Given the description of an element on the screen output the (x, y) to click on. 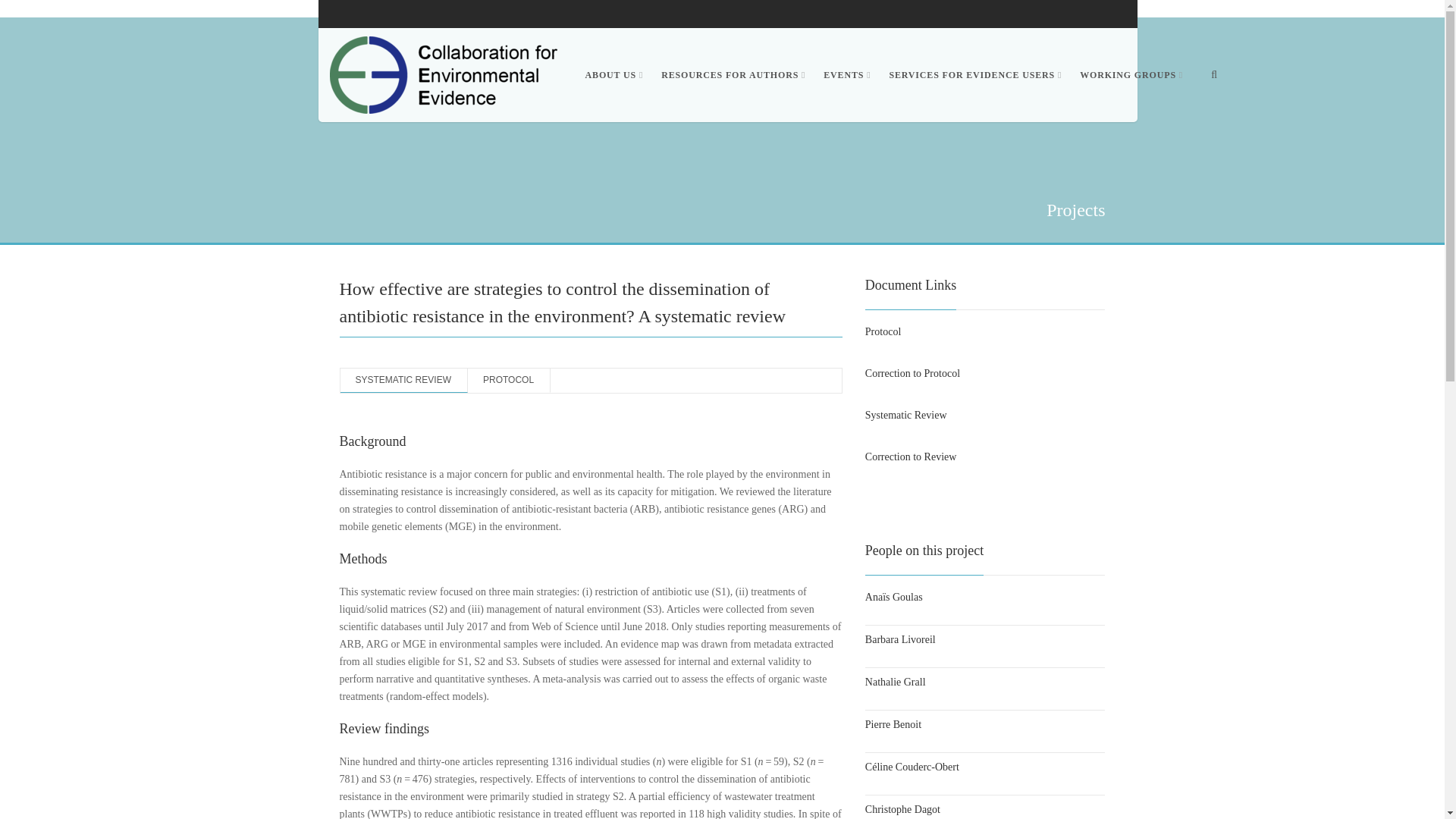
RESOURCES FOR AUTHORS (732, 74)
SERVICES FOR EVIDENCE USERS (974, 74)
Environmental Evidence (443, 74)
